Given the description of an element on the screen output the (x, y) to click on. 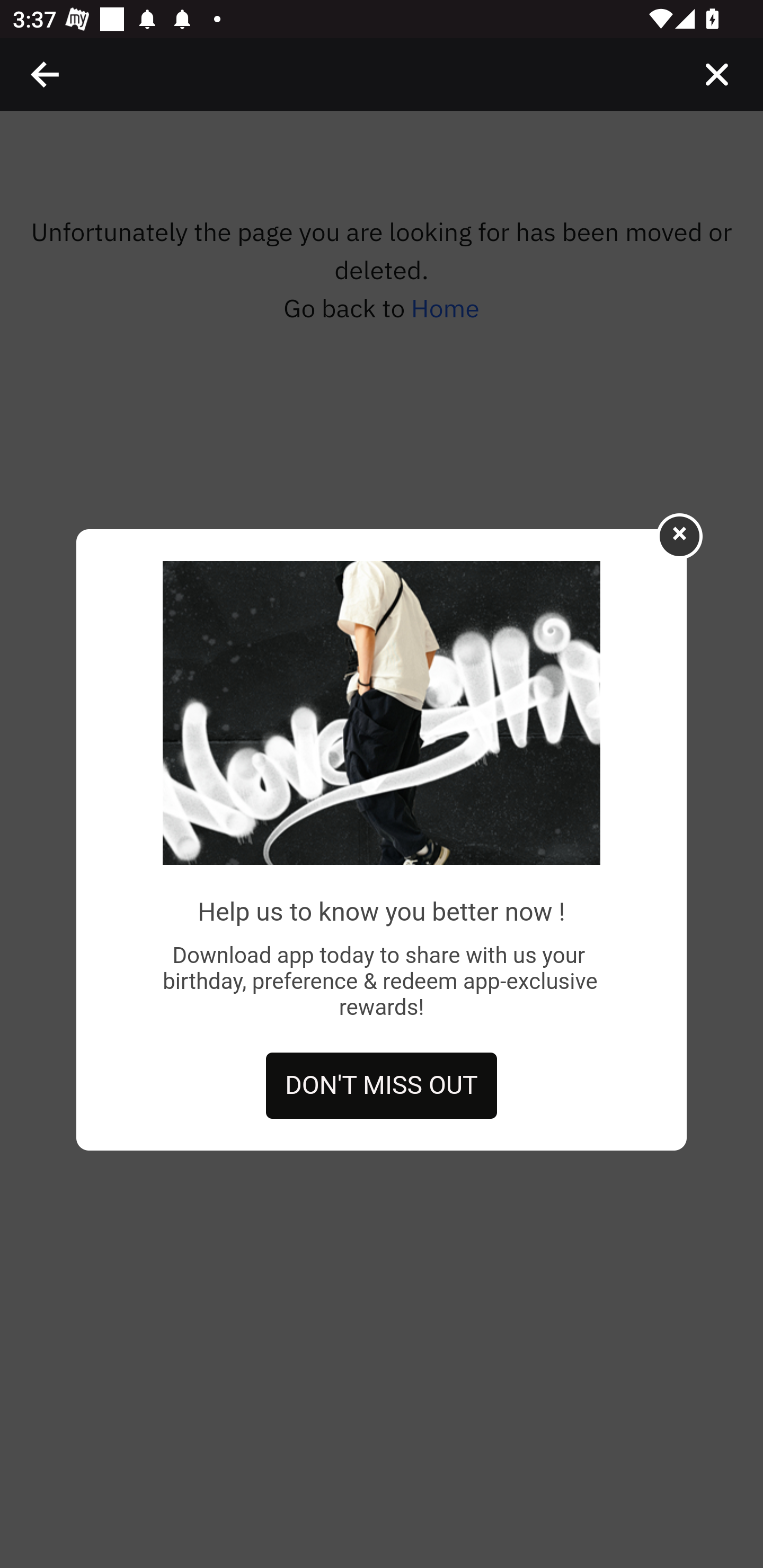
 (46, 74)
 (716, 74)
× (679, 535)
DON'T MISS OUT (381, 1086)
